Given the description of an element on the screen output the (x, y) to click on. 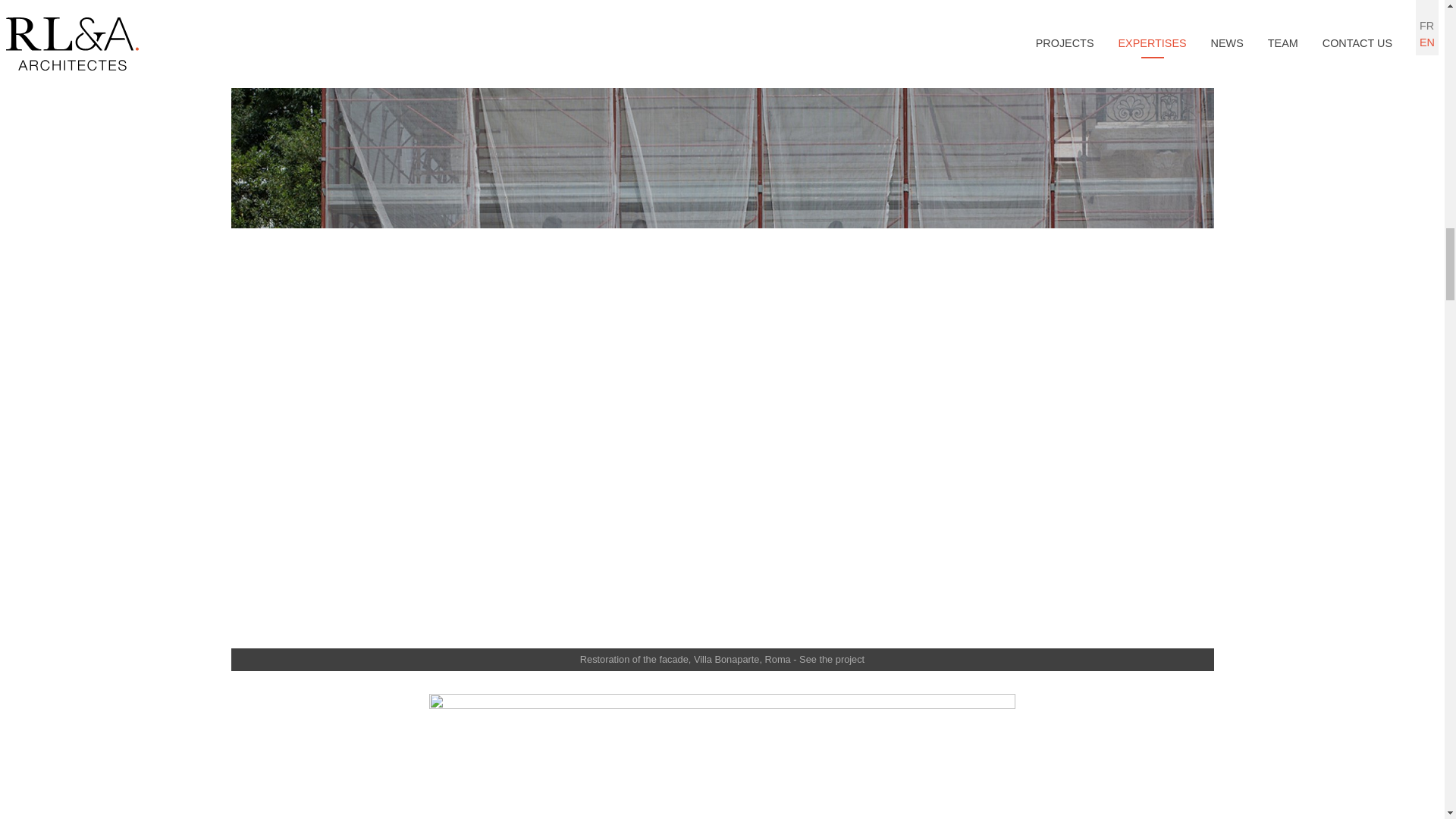
See the project (831, 13)
See the project (831, 659)
